Given the description of an element on the screen output the (x, y) to click on. 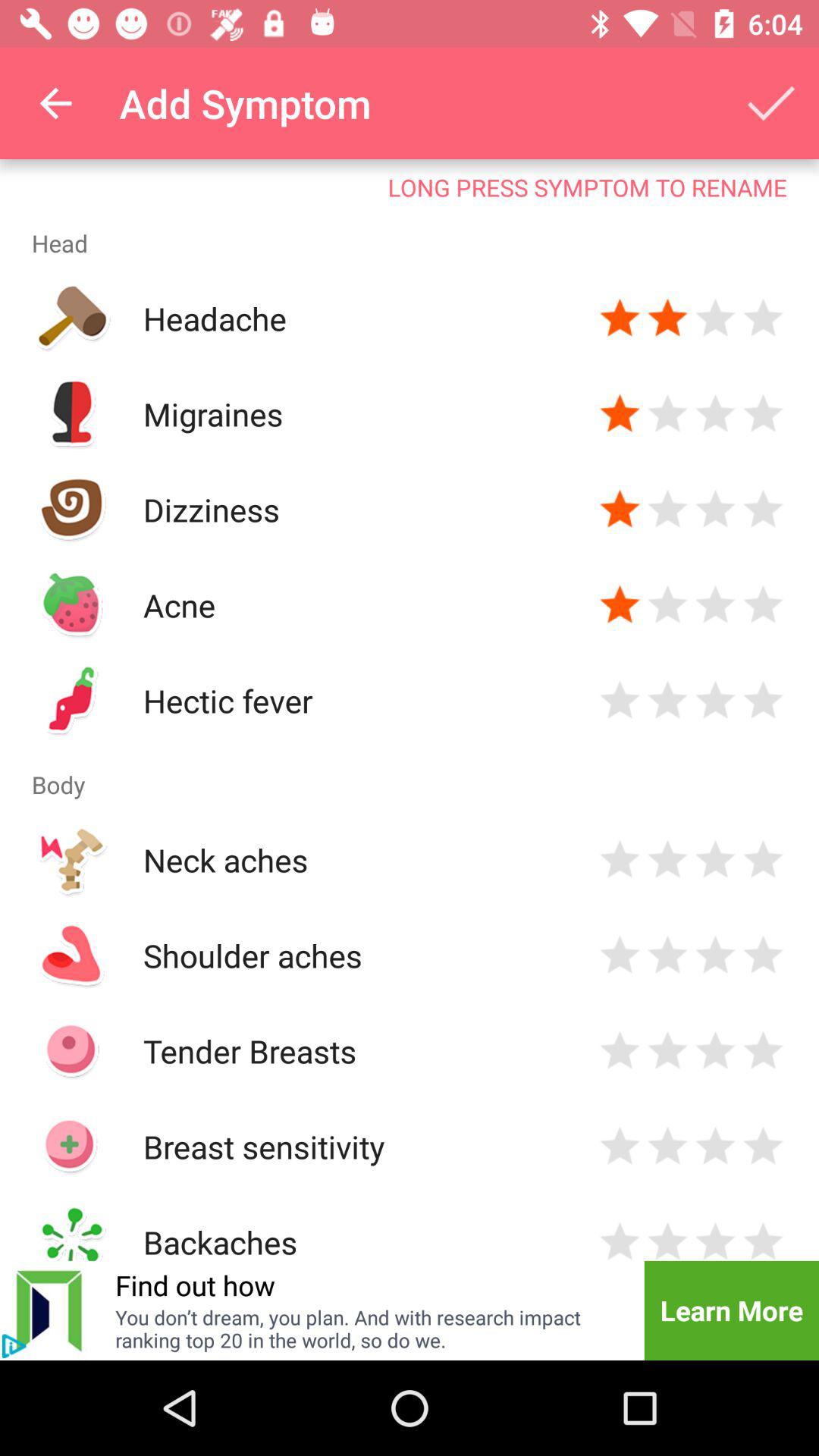
rate headache 2 stars (667, 318)
